Given the description of an element on the screen output the (x, y) to click on. 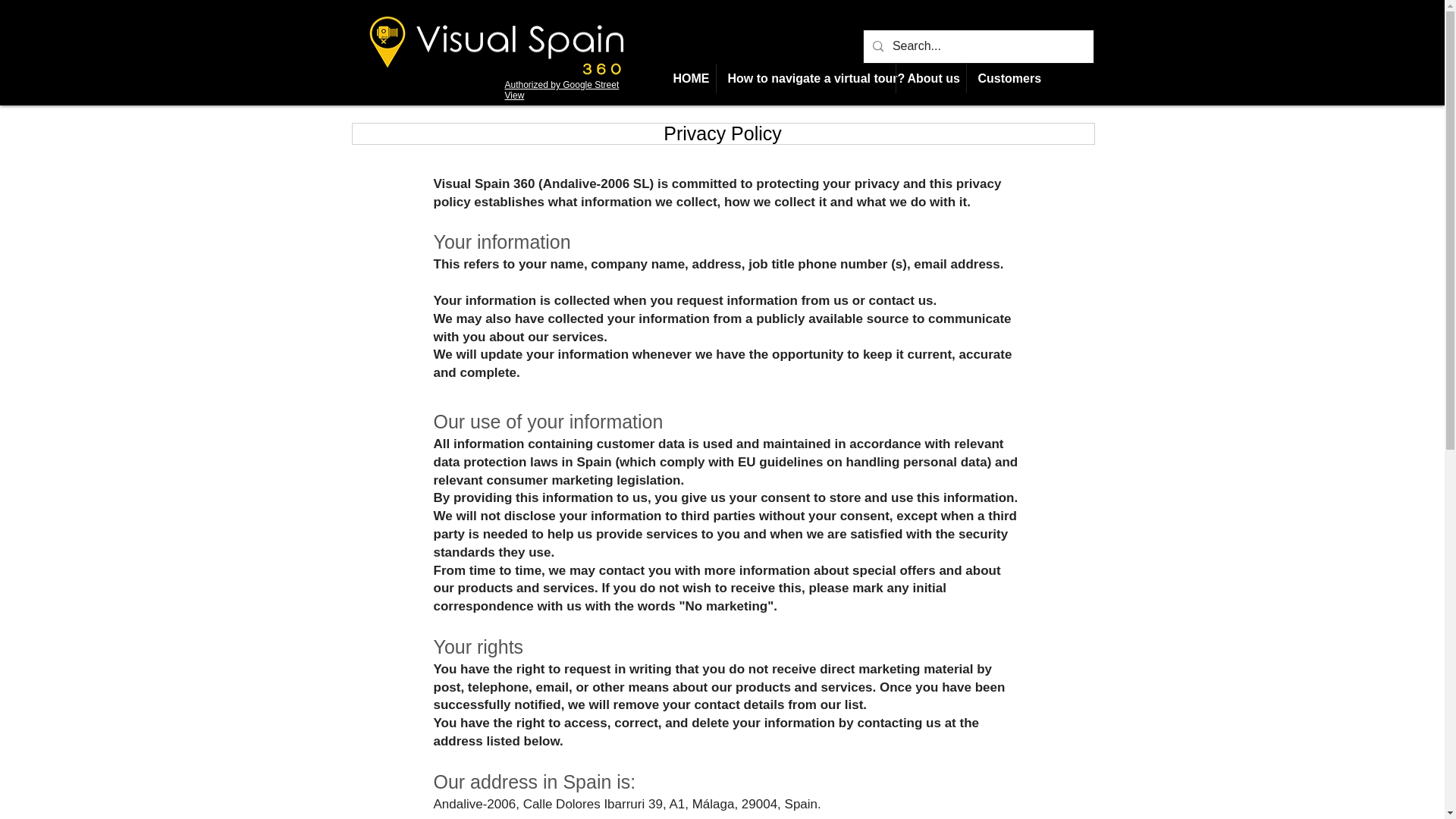
Customers (1005, 78)
HOME (687, 78)
About us (931, 78)
How to navigate a virtual tour? (805, 78)
Authorized by Google Street View (562, 89)
